Given the description of an element on the screen output the (x, y) to click on. 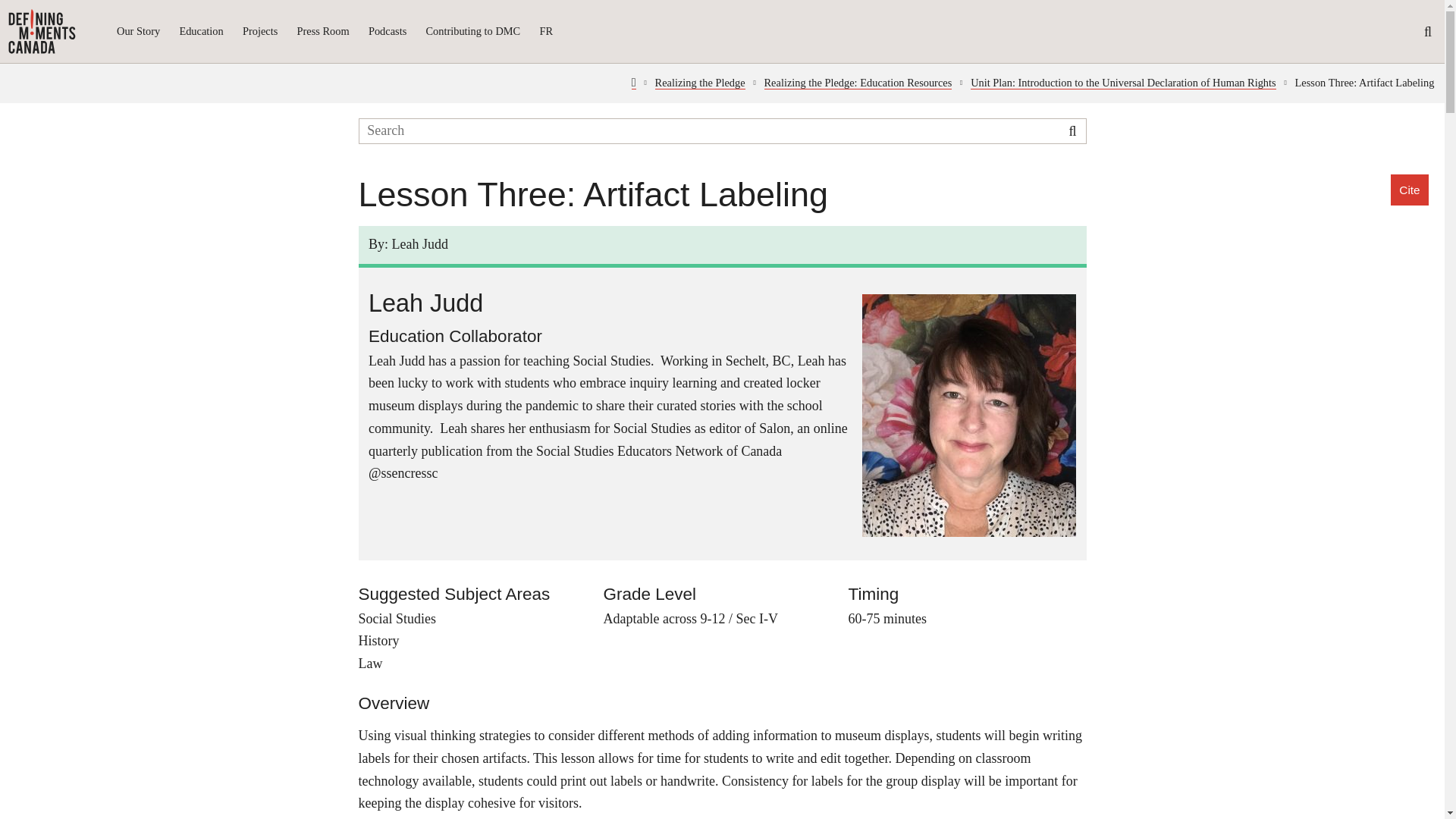
Education (200, 31)
Cite (1409, 189)
Podcasts (387, 31)
Realizing the Pledge (700, 82)
Press Room (323, 31)
Projects (260, 31)
Our Story (138, 31)
Realizing the Pledge: Education Resources (858, 82)
Search (1072, 130)
